Given the description of an element on the screen output the (x, y) to click on. 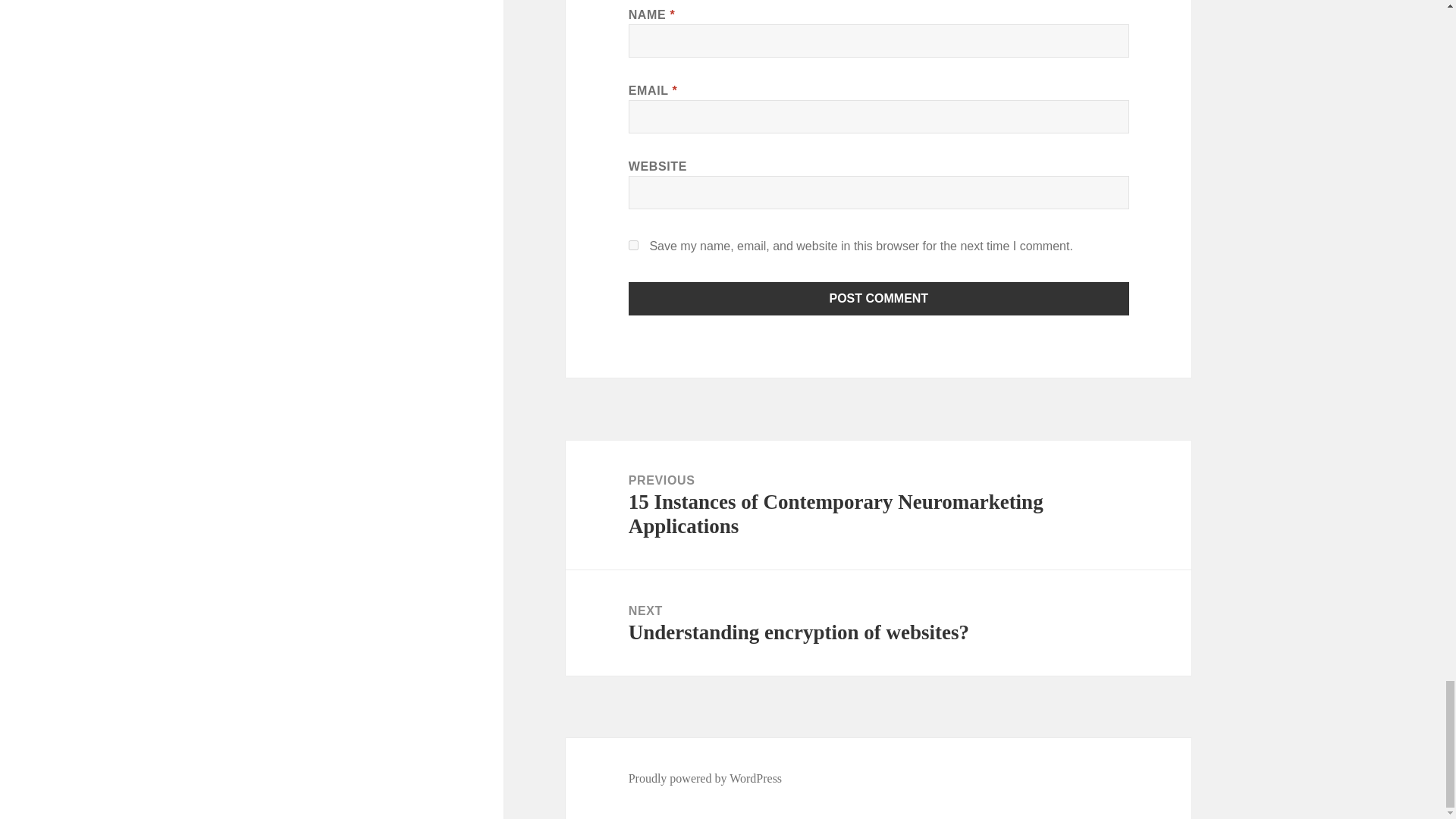
yes (633, 245)
Post Comment (878, 298)
